Given the description of an element on the screen output the (x, y) to click on. 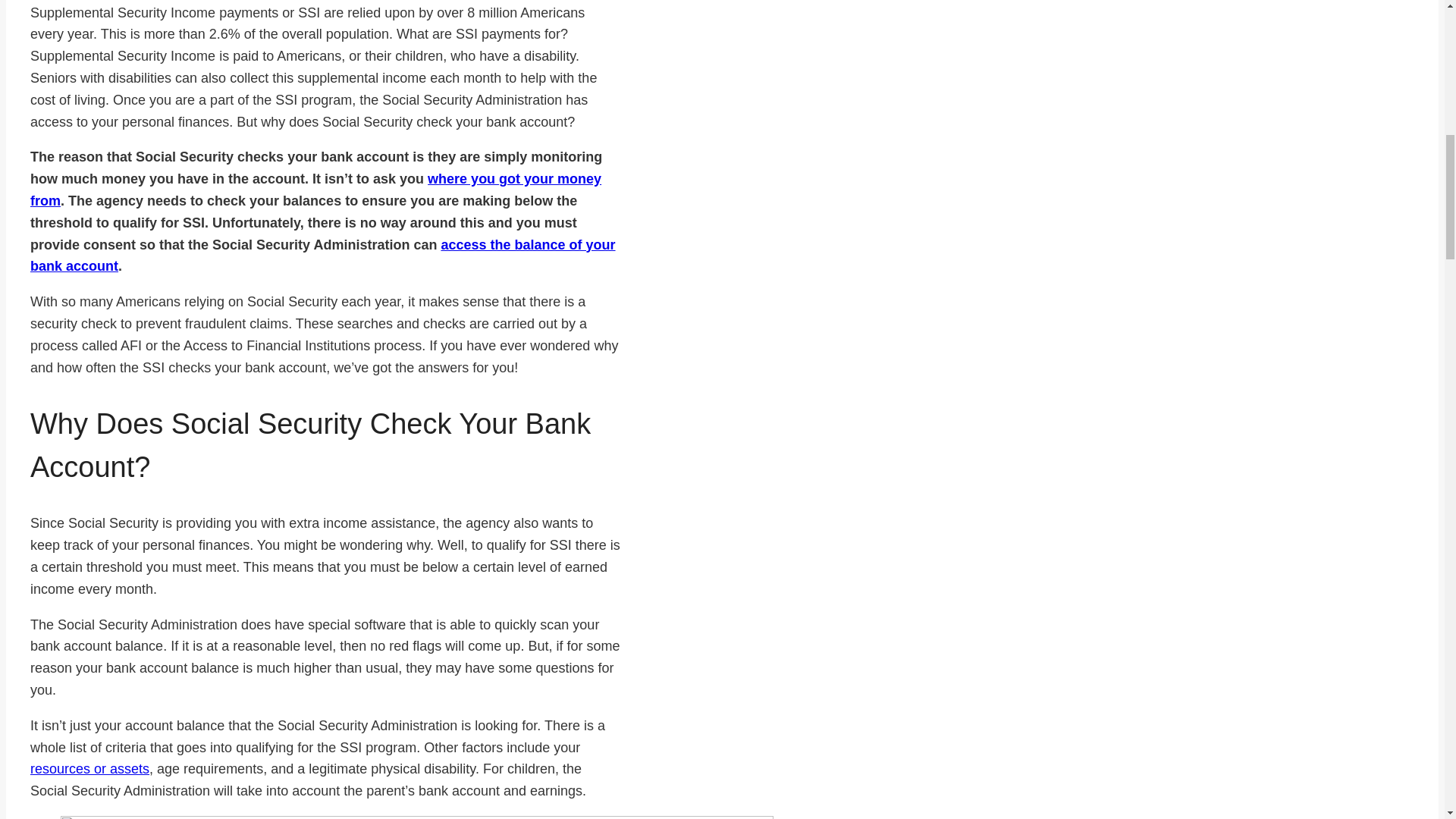
resources or assets (89, 768)
access the balance of your bank account (322, 255)
where you got your money from (315, 189)
